Given the description of an element on the screen output the (x, y) to click on. 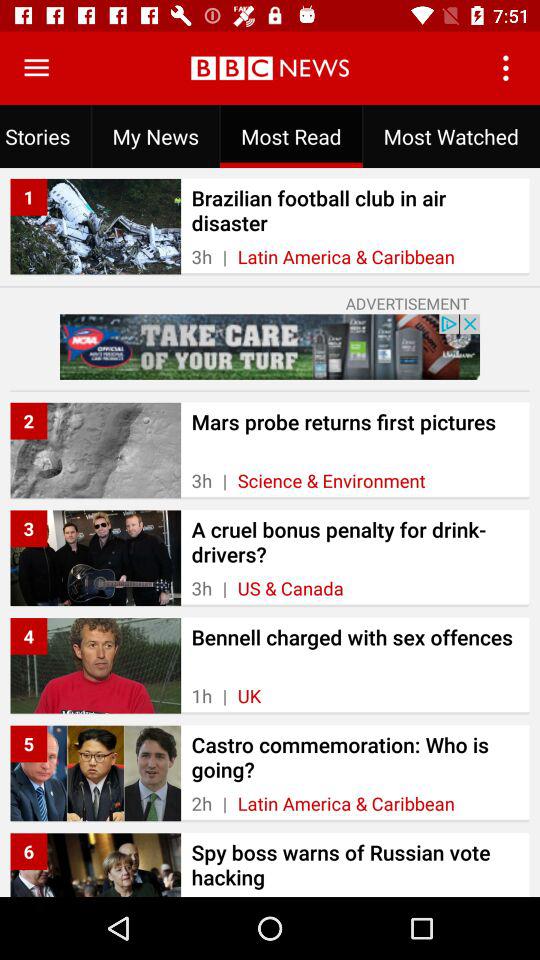
toggle to advertisement box (270, 346)
